Given the description of an element on the screen output the (x, y) to click on. 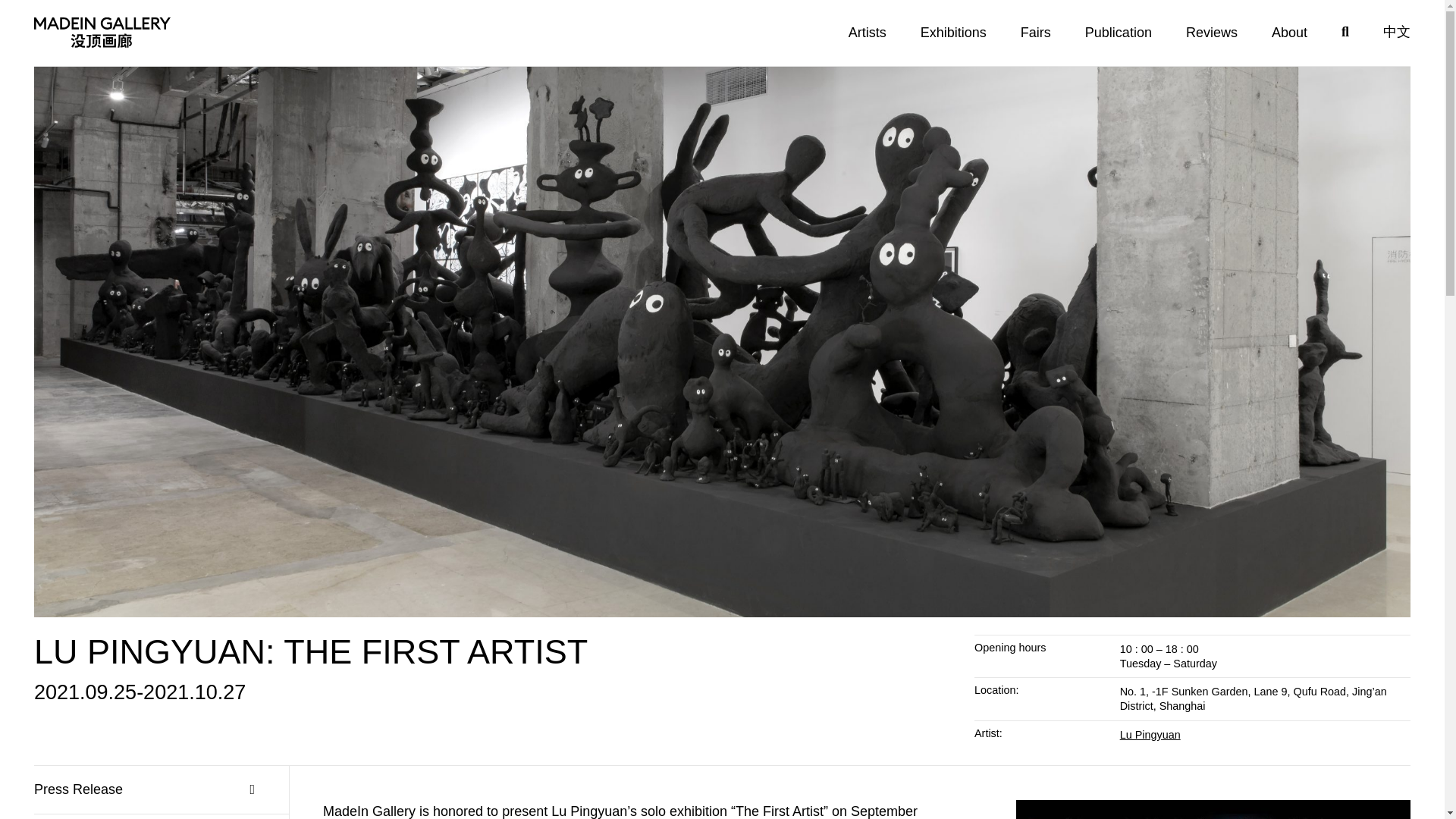
Reviews (1211, 33)
Fairs (1035, 33)
Exhibitions (953, 33)
Press Release (143, 789)
Artists (867, 33)
About (1289, 33)
Lu Pingyuan (1149, 734)
Publication (1117, 33)
